Given the description of an element on the screen output the (x, y) to click on. 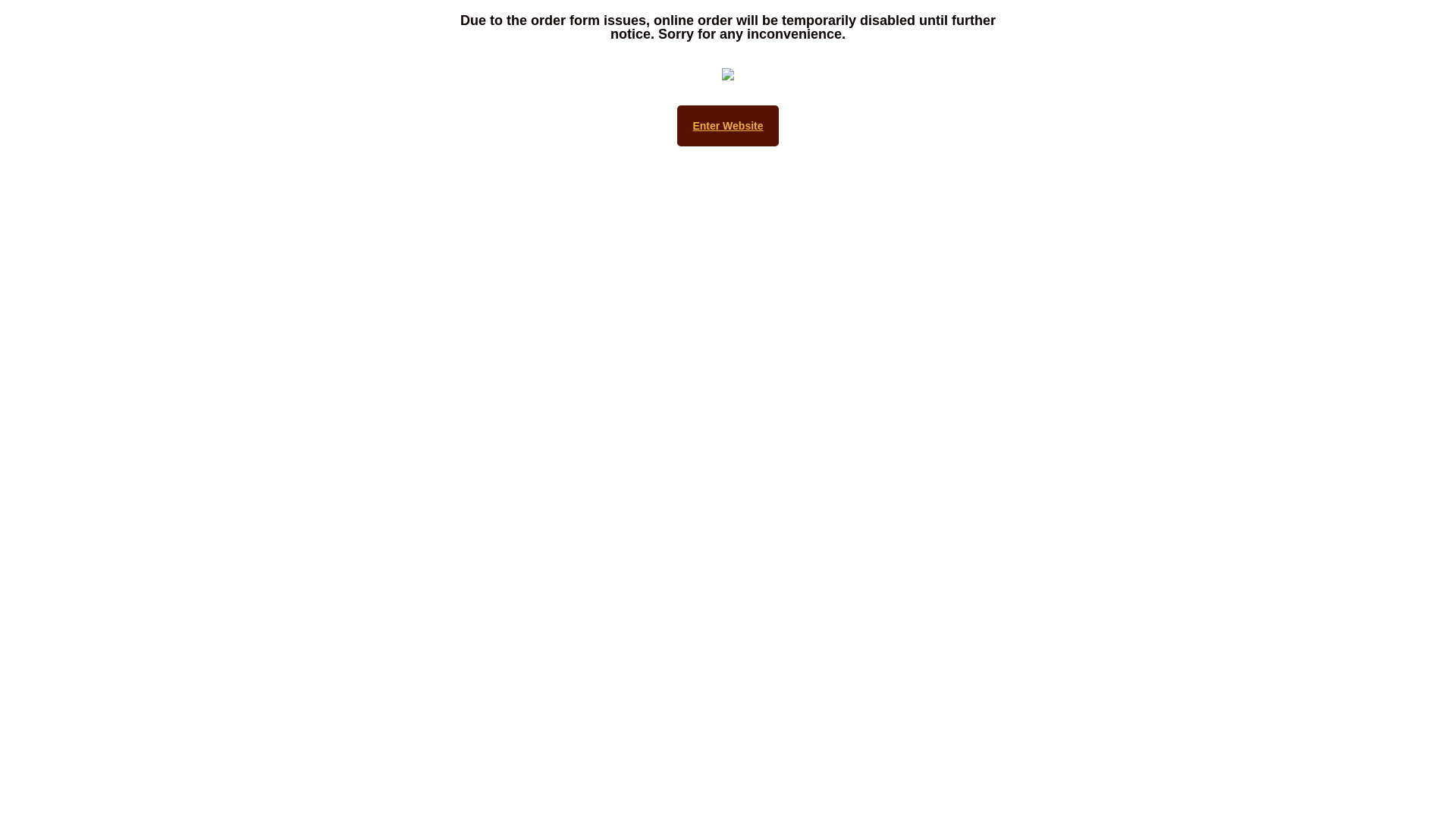
Enter Website Element type: text (727, 125)
